Given the description of an element on the screen output the (x, y) to click on. 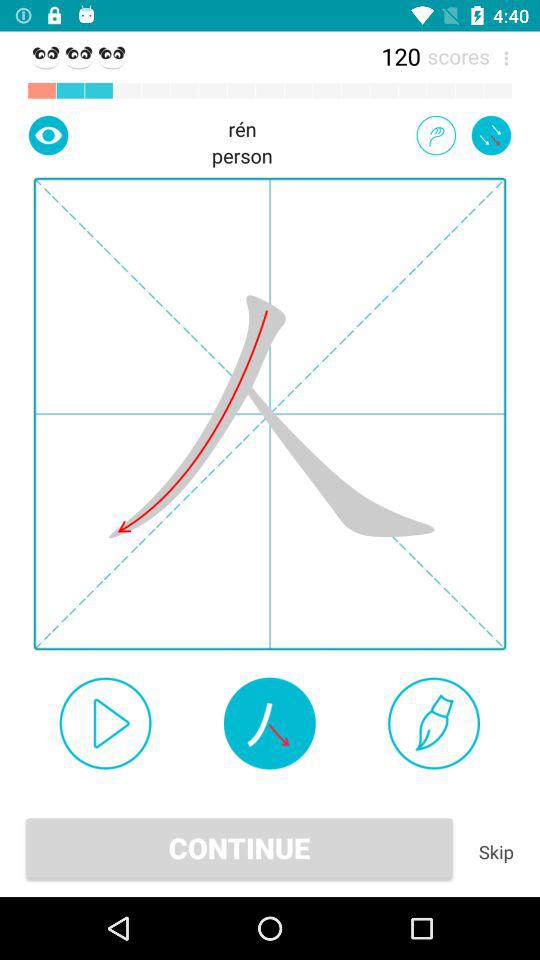
press the icon above continue icon (269, 723)
